Given the description of an element on the screen output the (x, y) to click on. 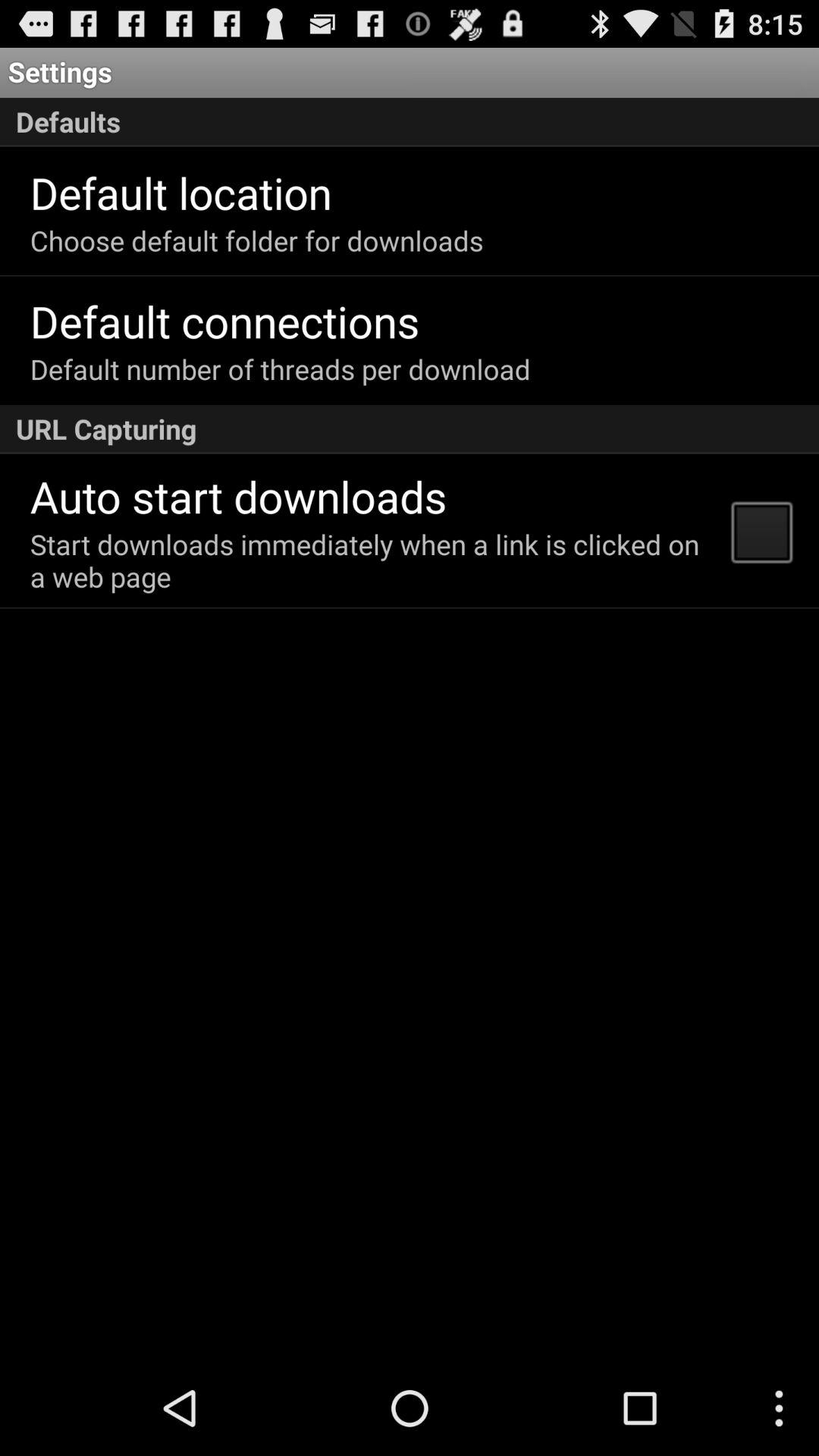
press the icon above the auto start downloads item (409, 428)
